Given the description of an element on the screen output the (x, y) to click on. 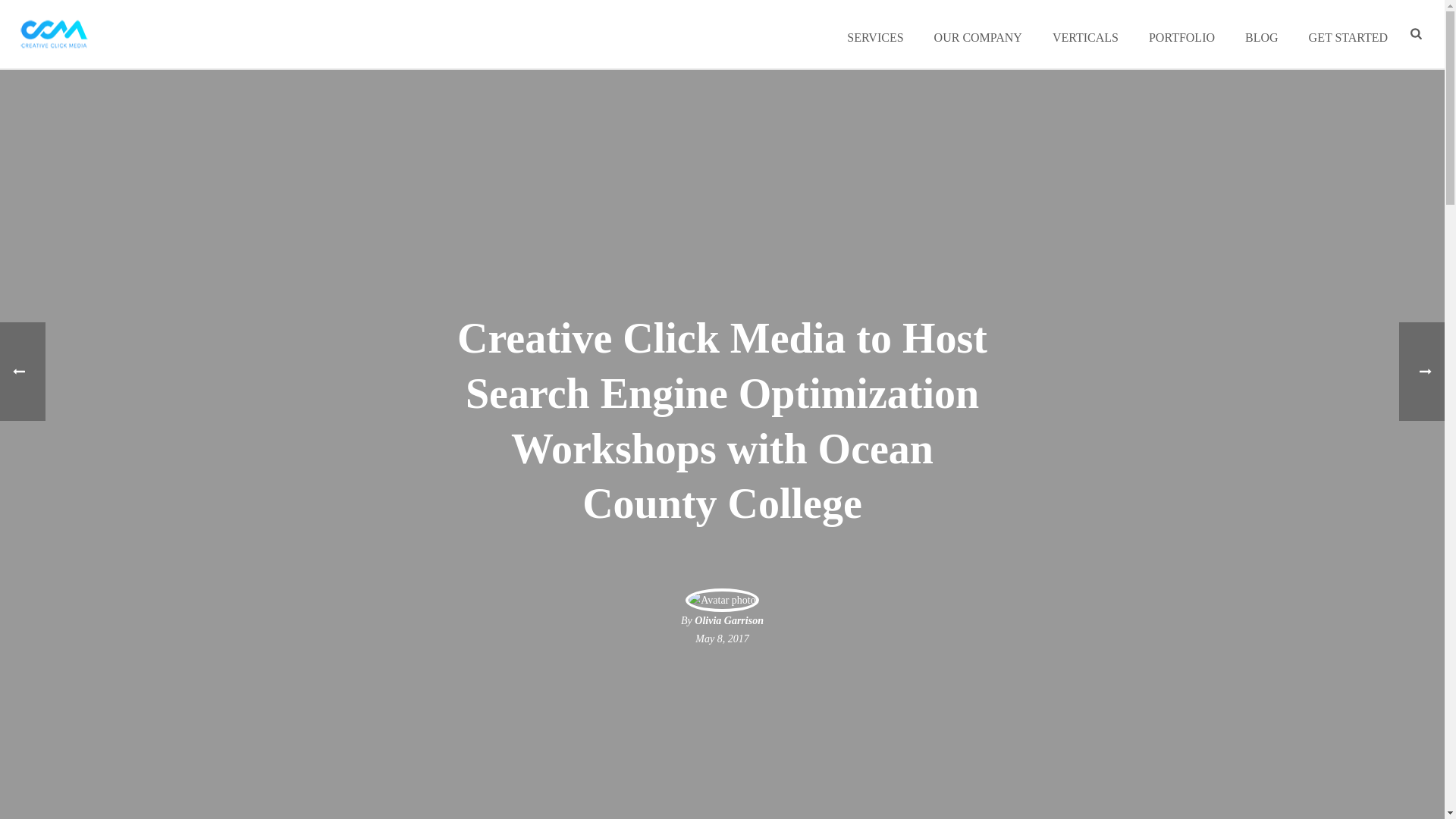
PORTFOLIO (1182, 33)
PORTFOLIO (1182, 33)
OUR COMPANY (977, 33)
VERTICALS (1085, 33)
BLOG (1262, 33)
SERVICES (874, 33)
OUR COMPANY (977, 33)
SERVICES (874, 33)
VERTICALS (1085, 33)
GET STARTED (1348, 33)
